Given the description of an element on the screen output the (x, y) to click on. 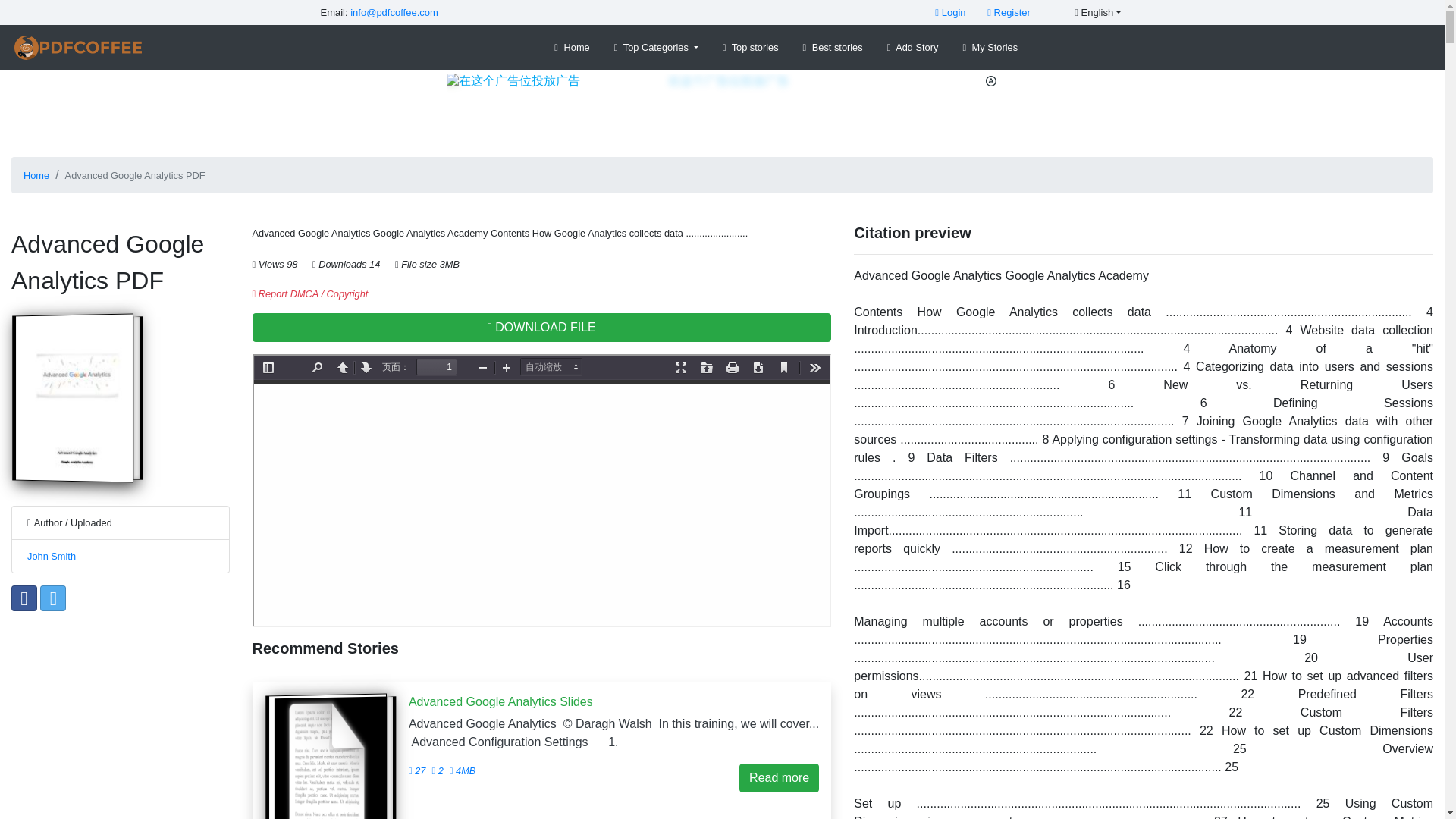
Top stories (750, 47)
Login (949, 12)
John Smith (51, 555)
Home (571, 47)
Top Categories (656, 47)
Best stories (832, 47)
Home (36, 174)
My Stories (989, 47)
Add Story (912, 47)
Register (1008, 12)
